Given the description of an element on the screen output the (x, y) to click on. 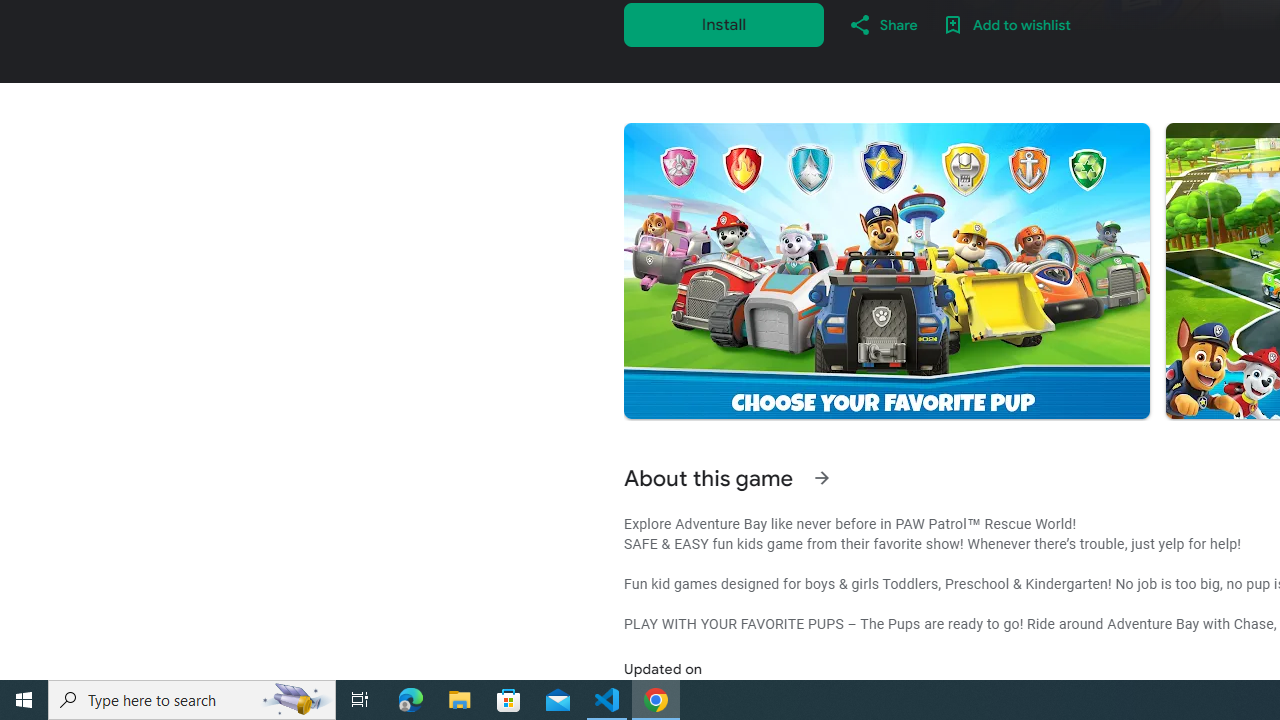
Screenshot image (886, 271)
Share (881, 24)
See more information on About this game (821, 477)
Add to wishlist (1006, 24)
Install (723, 24)
